Given the description of an element on the screen output the (x, y) to click on. 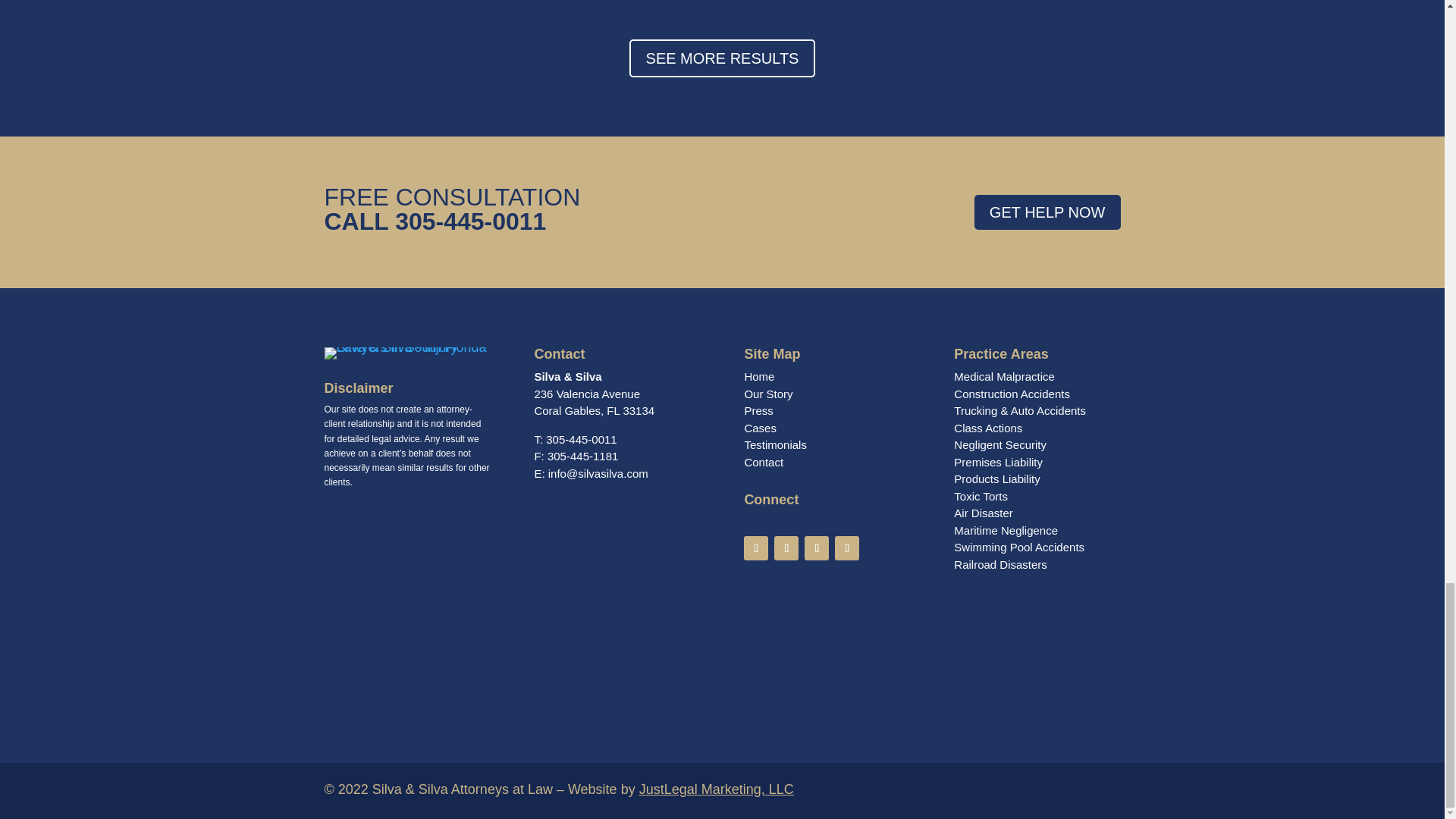
Follow on X (785, 548)
Our Story (768, 393)
SEE MORE RESULTS (721, 57)
GET HELP NOW (593, 402)
Follow on Youtube (1047, 212)
Follow on LinkedIn (816, 548)
Follow on Facebook (846, 548)
305-445-0011 (756, 548)
305-445-0011 (470, 220)
